Given the description of an element on the screen output the (x, y) to click on. 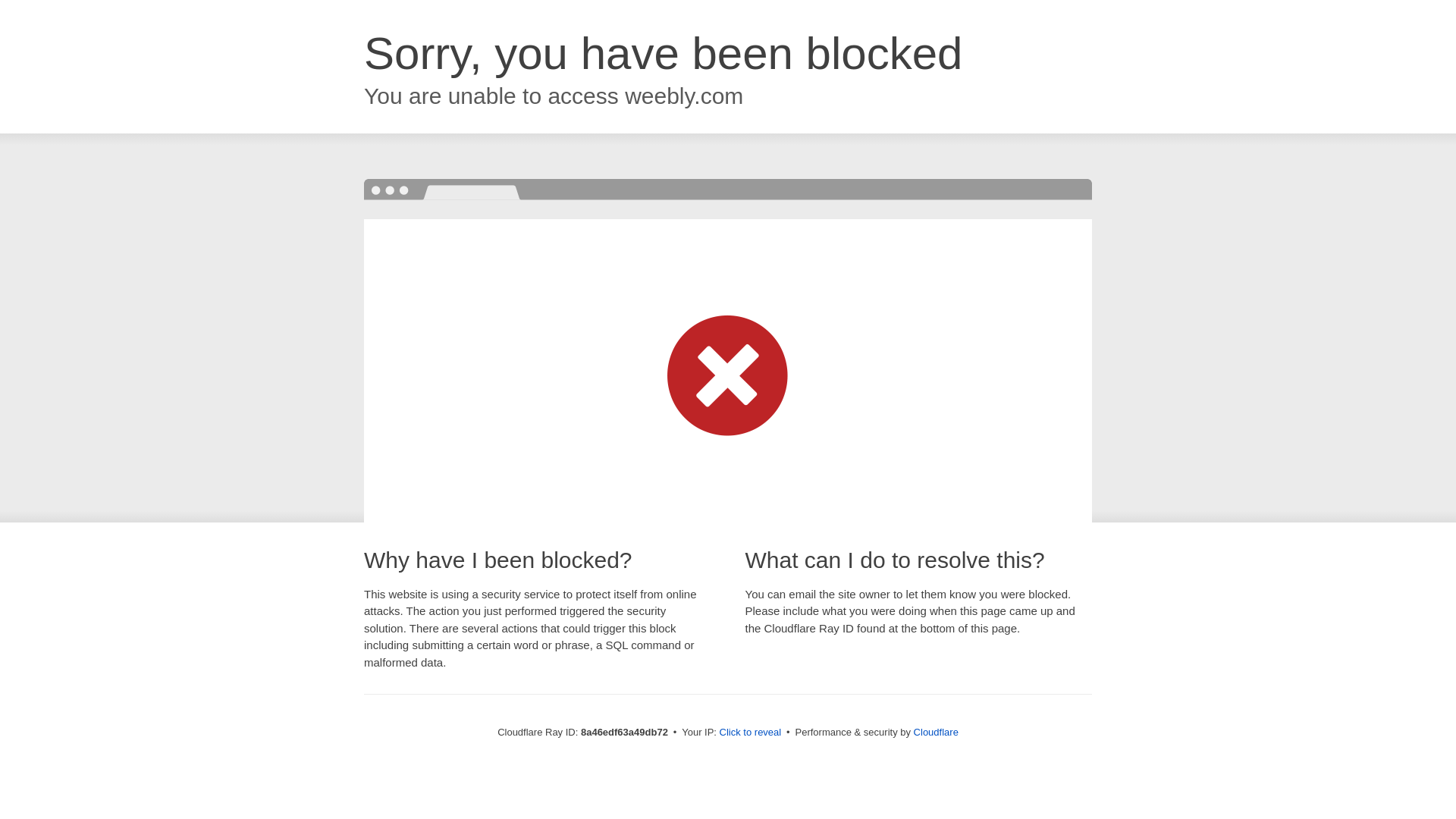
Cloudflare (936, 731)
Click to reveal (750, 732)
